Given the description of an element on the screen output the (x, y) to click on. 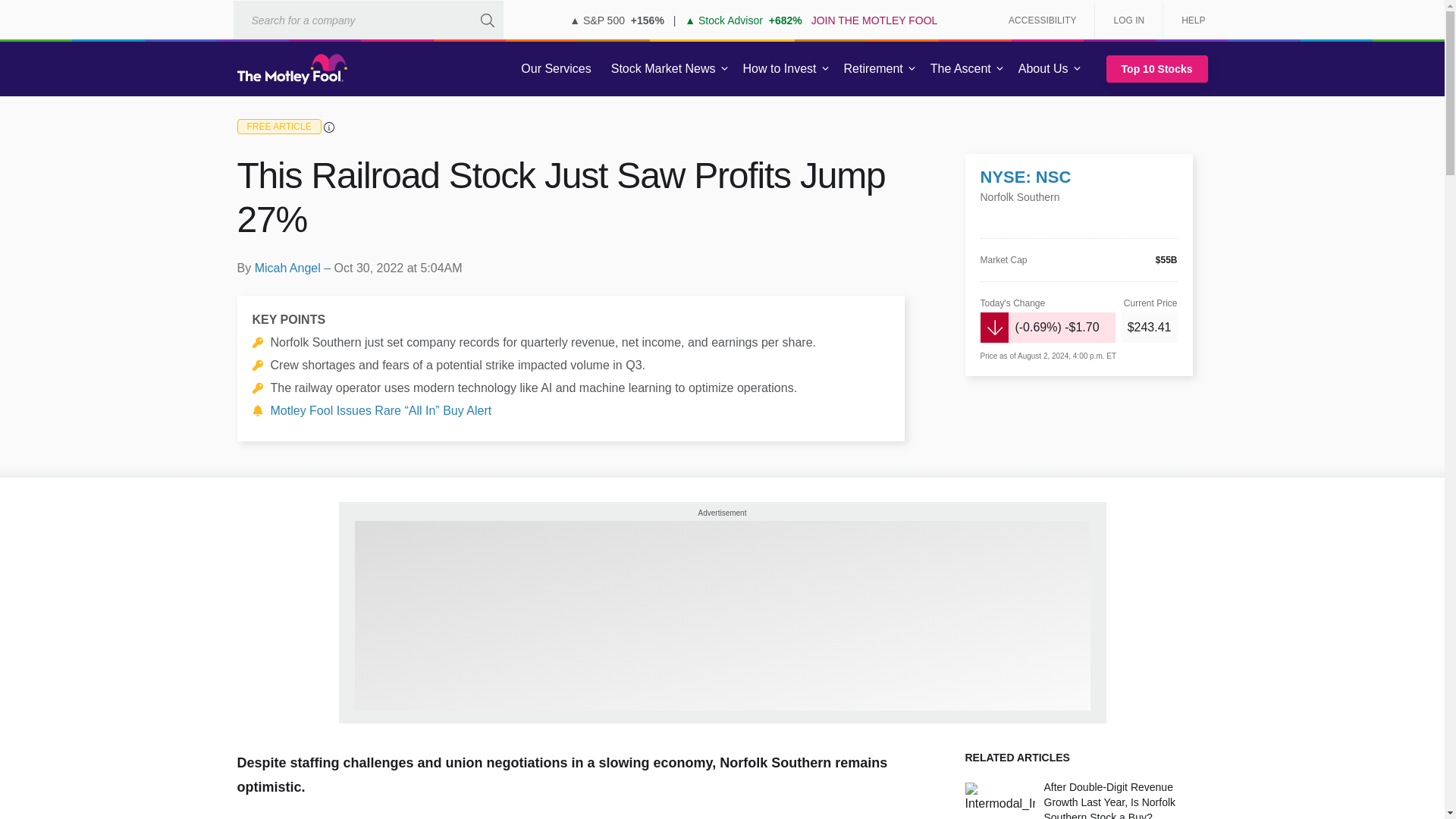
Our Services (555, 68)
How to Invest (779, 68)
LOG IN (1128, 19)
HELP (1187, 19)
ACCESSIBILITY (1042, 19)
Stock Market News (662, 68)
